Given the description of an element on the screen output the (x, y) to click on. 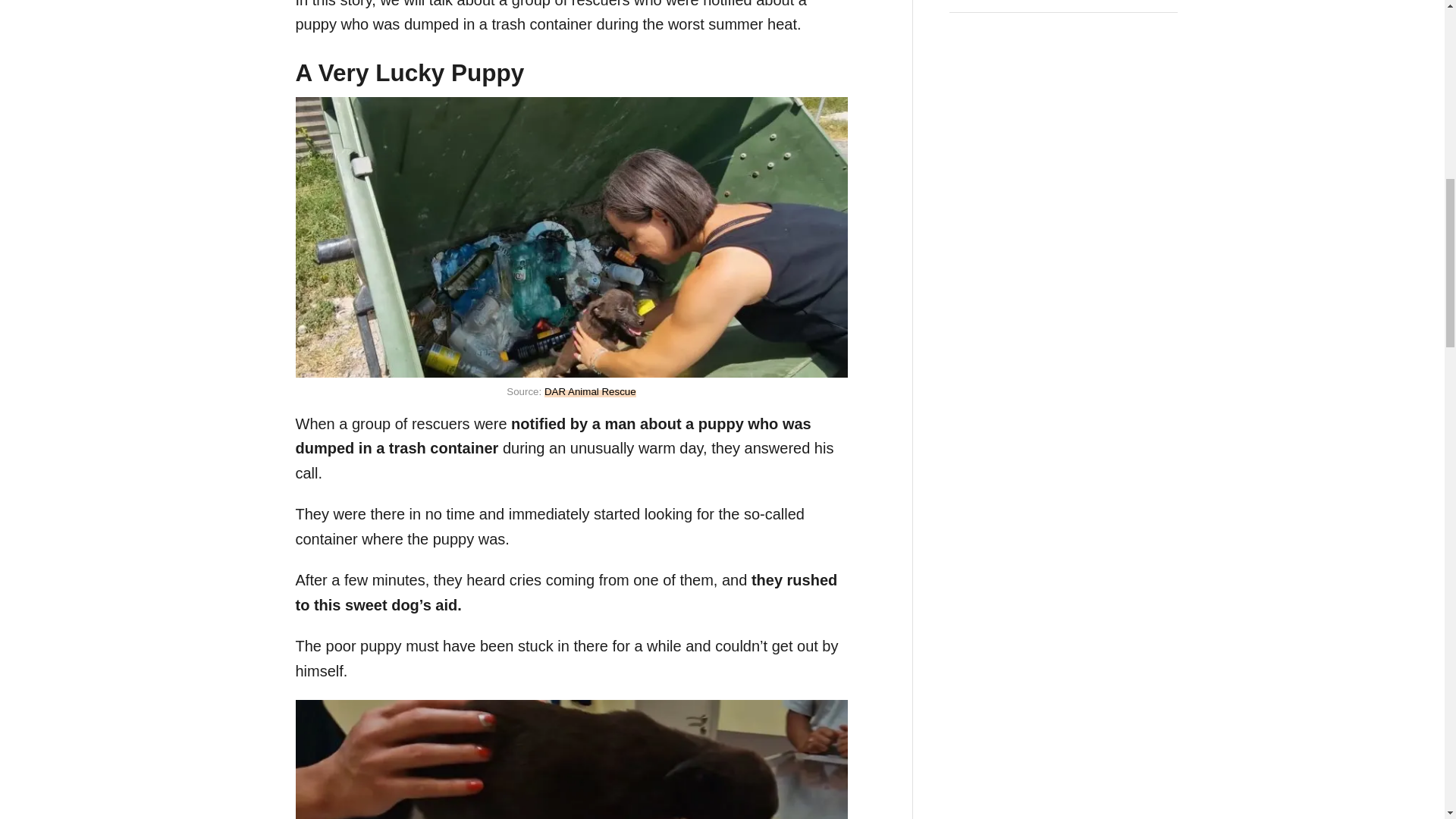
DAR Animal Rescue (590, 391)
